Given the description of an element on the screen output the (x, y) to click on. 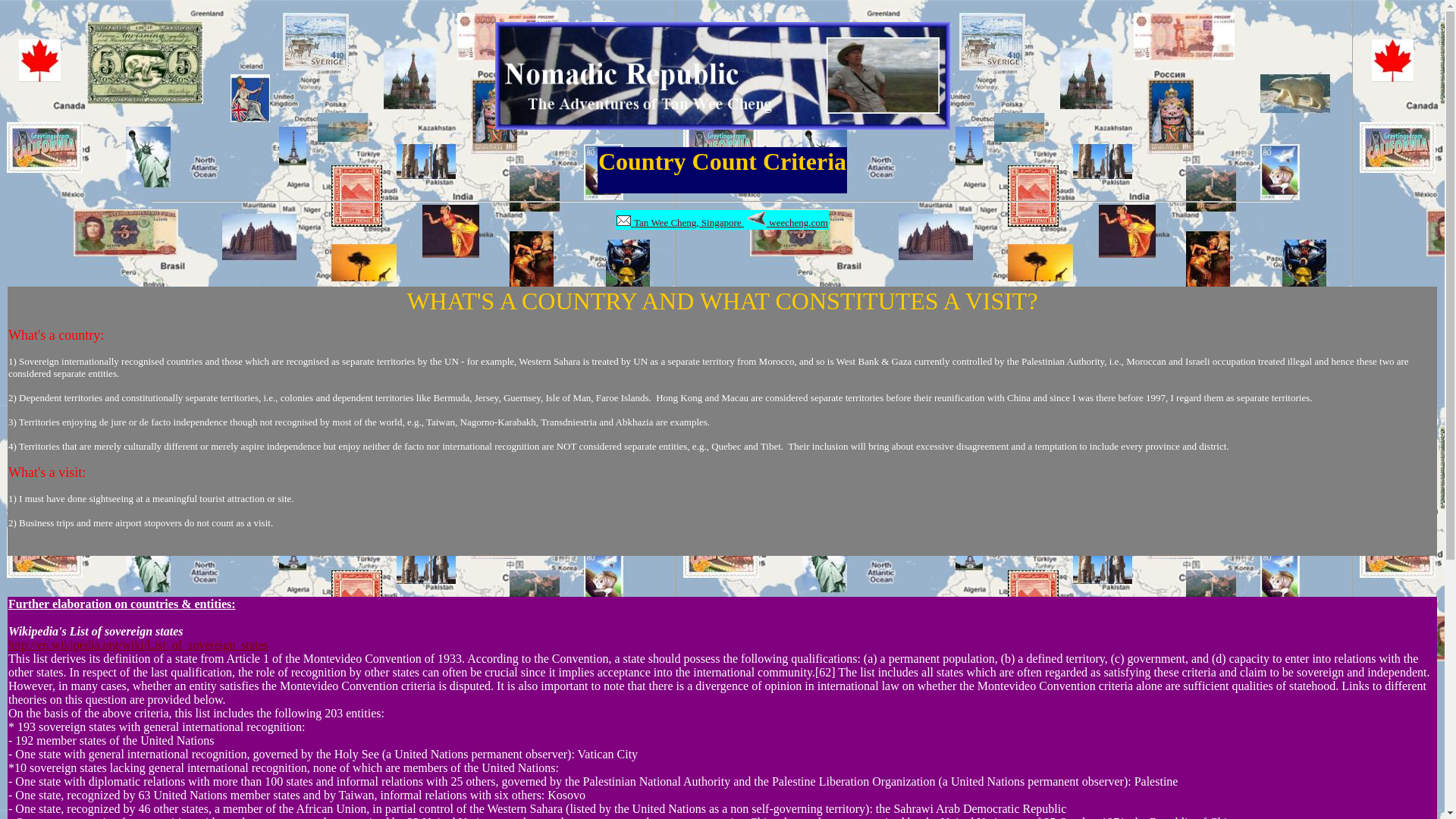
Tan Wee Cheng, Singapore  (679, 221)
weecheng.com (786, 222)
